Given the description of an element on the screen output the (x, y) to click on. 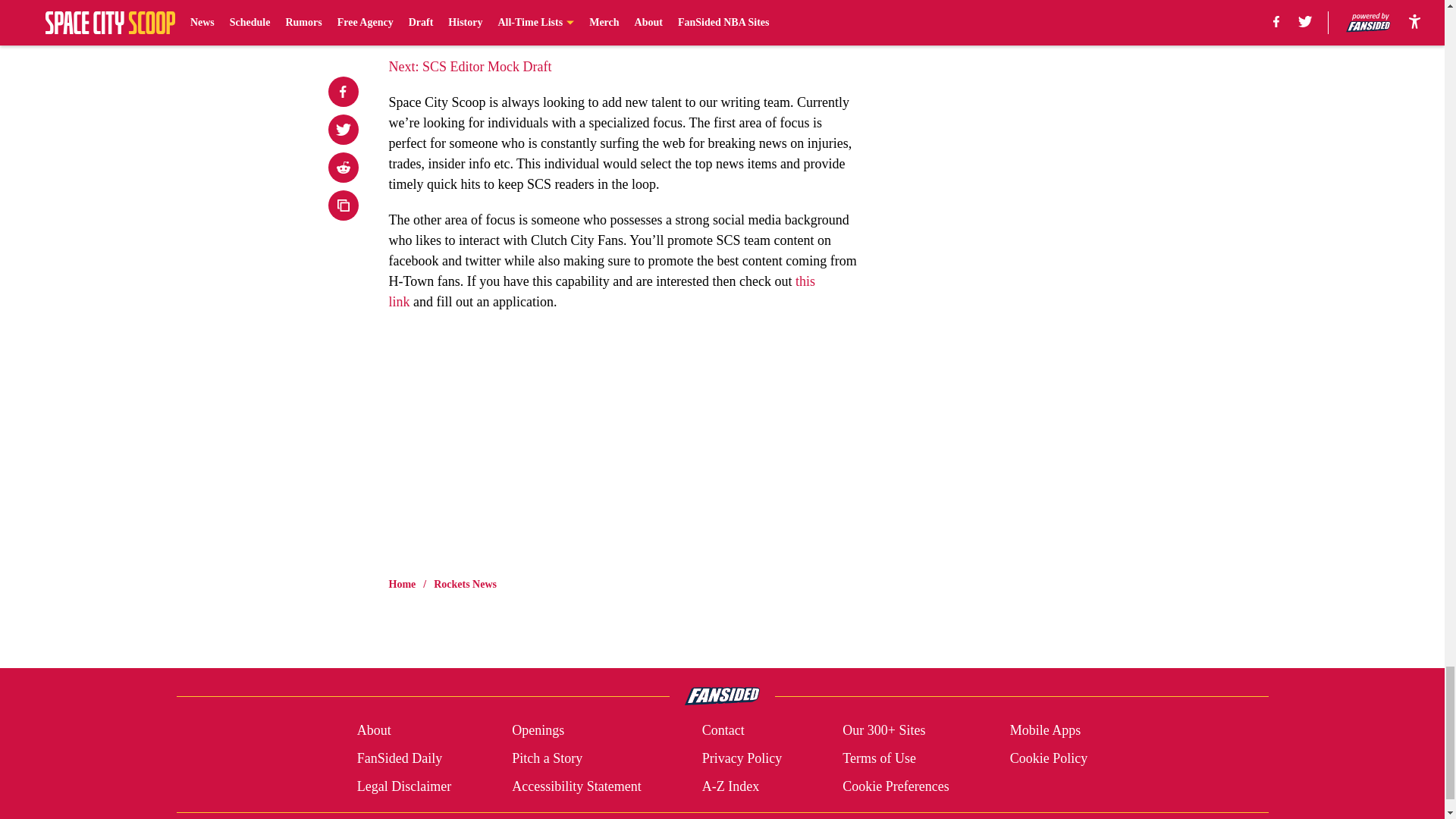
this link  (601, 291)
Home (401, 584)
Next: SCS Editor Mock Draft (469, 66)
Rockets News (464, 584)
